Given the description of an element on the screen output the (x, y) to click on. 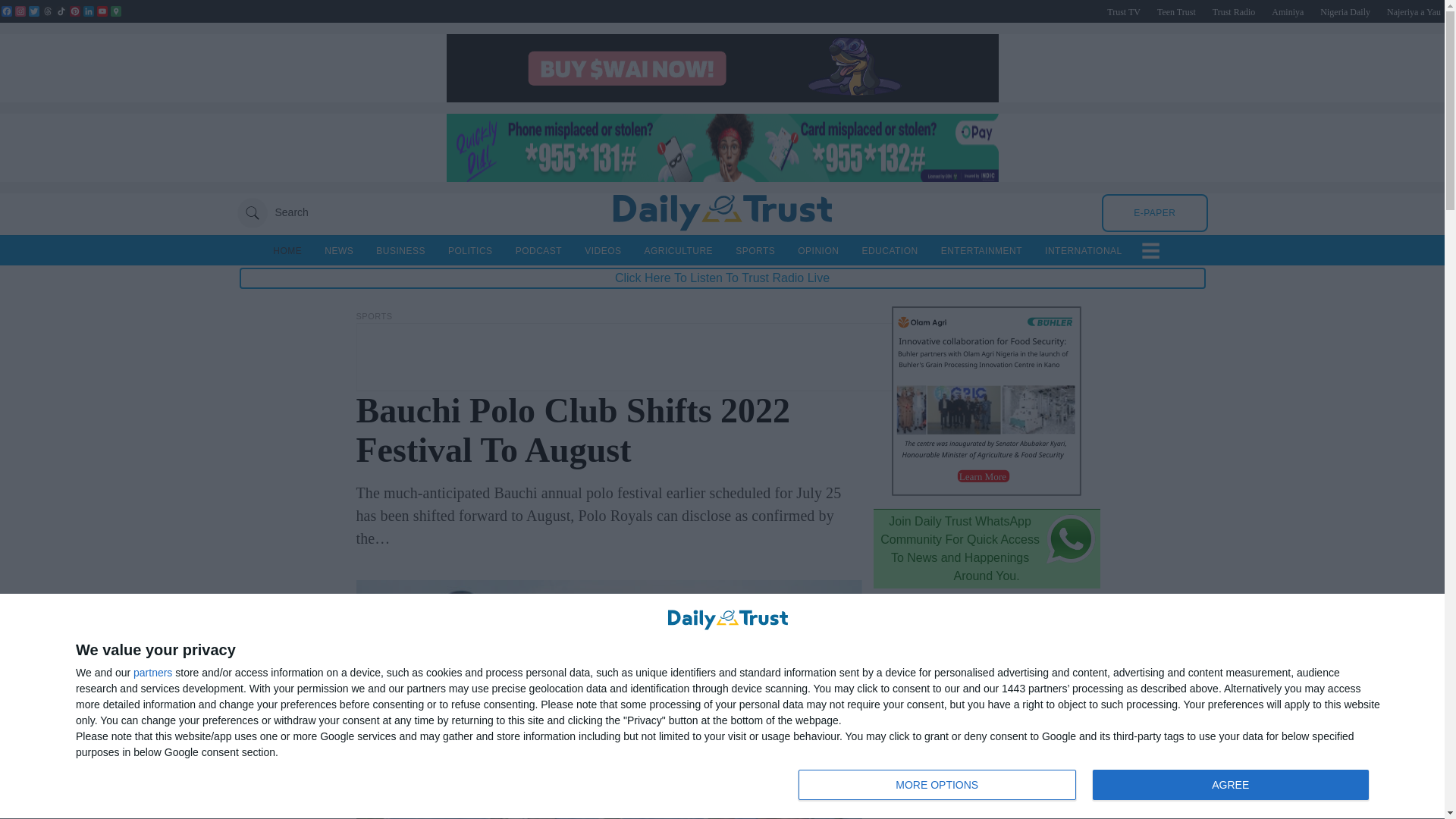
Trust Radio (1233, 11)
Facebook (6, 10)
Pinterest (74, 10)
Teen Trust (1176, 11)
Saurari Shirye Shiryenmu (1414, 11)
E-Paper Subscription (1154, 212)
PEPU Meme Coin (721, 97)
Olam Agri (986, 491)
Aminiya (1086, 785)
YouTube (1287, 11)
AGREE (102, 10)
partners (1230, 784)
MORE OPTIONS (152, 672)
Dailytrust (936, 784)
